Given the description of an element on the screen output the (x, y) to click on. 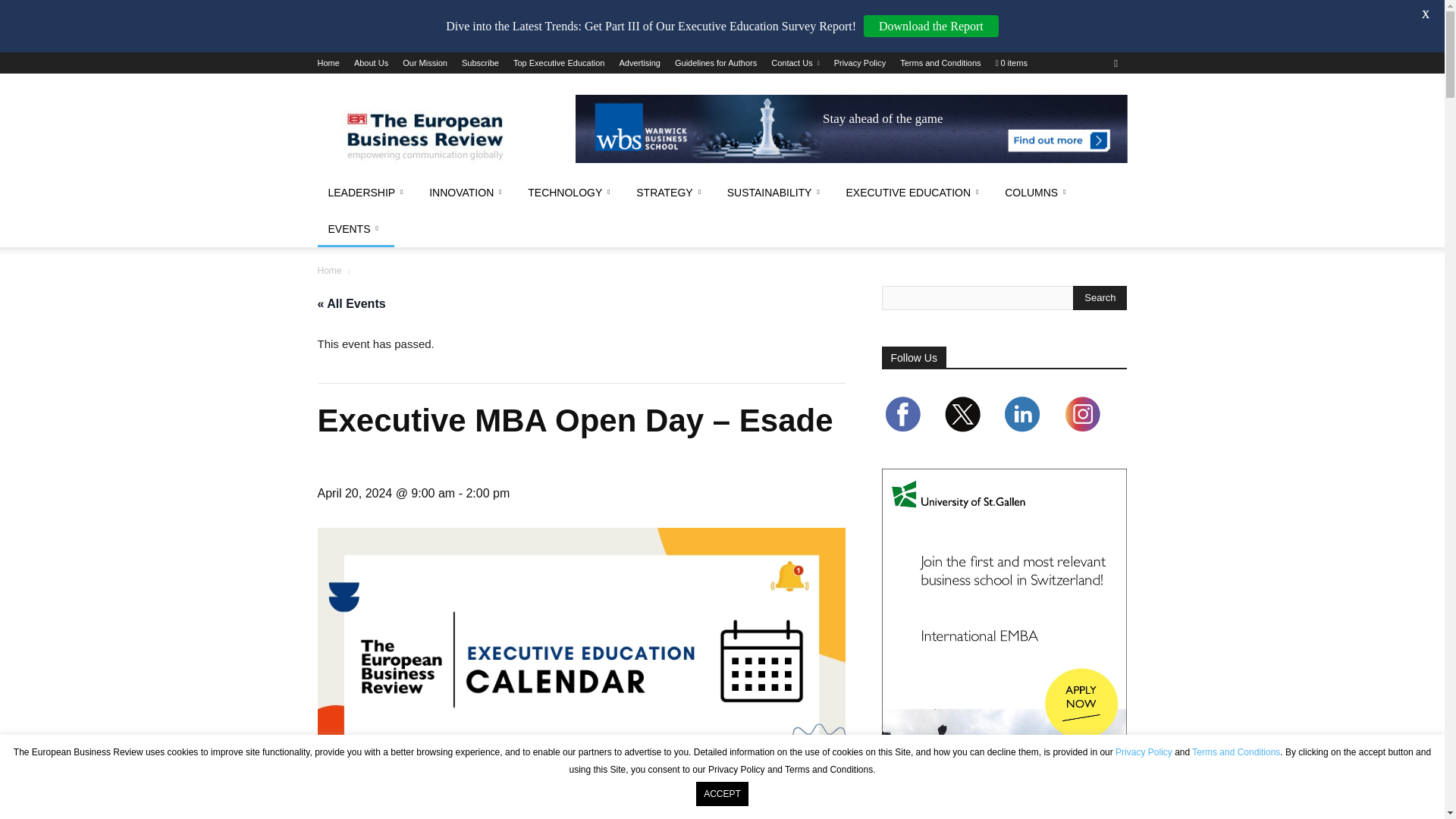
Start shopping (1011, 62)
advertisement (850, 128)
Innovation (467, 192)
Search (1099, 297)
